Given the description of an element on the screen output the (x, y) to click on. 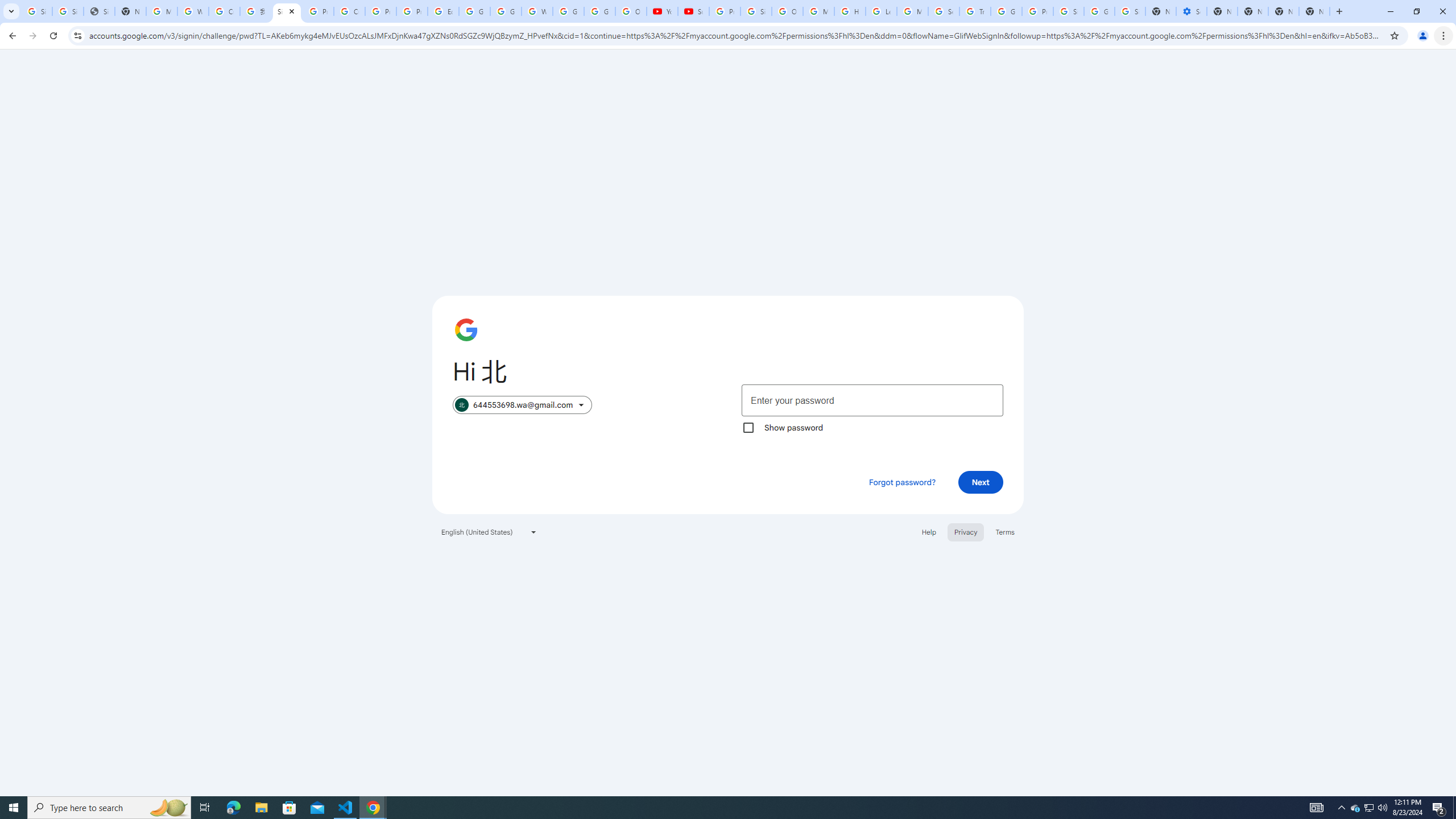
Settings - Performance (1190, 11)
Sign in - Google Accounts (67, 11)
Google Cybersecurity Innovations - Google Safety Center (1098, 11)
